Given the description of an element on the screen output the (x, y) to click on. 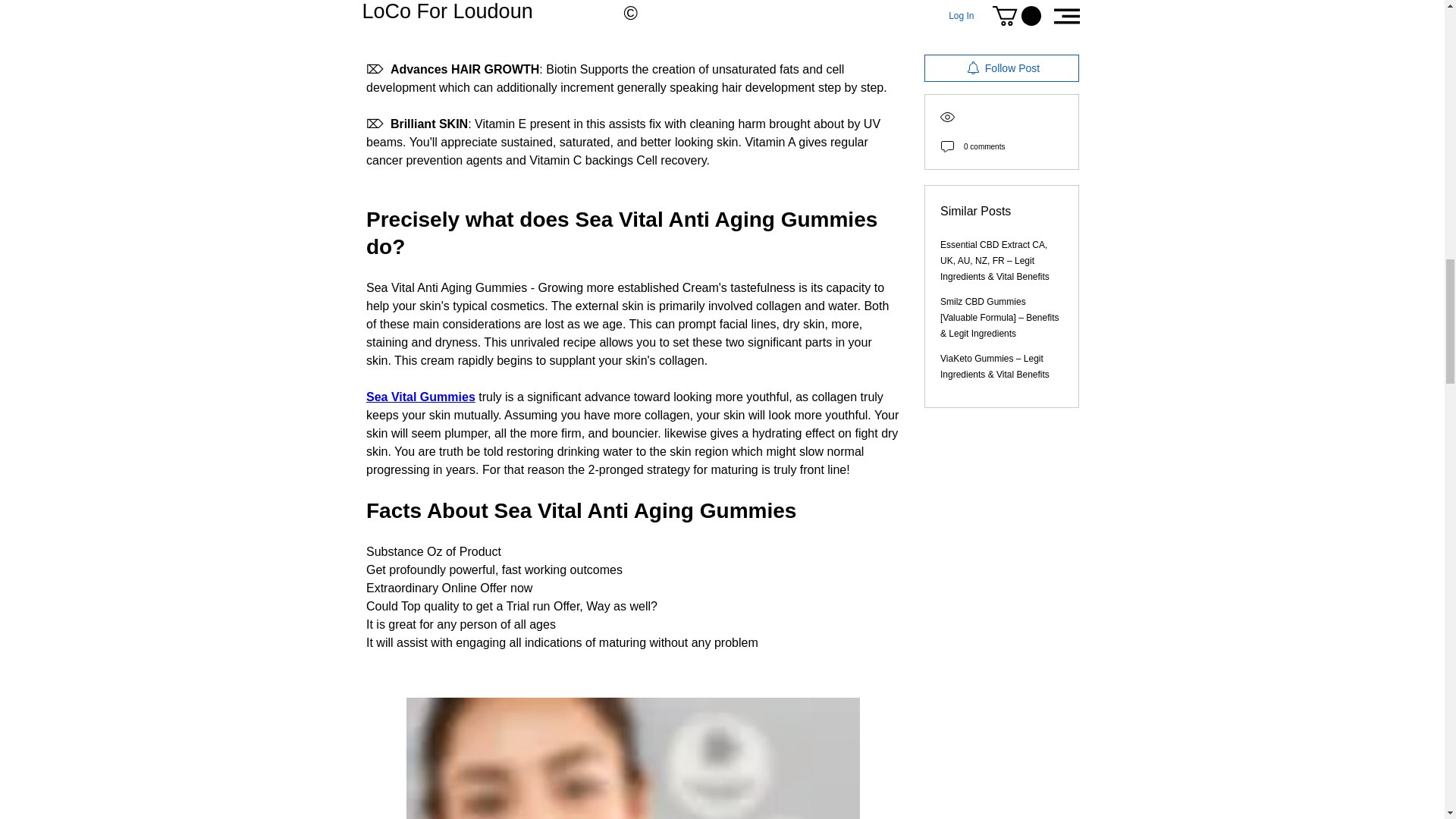
Sea Vital Gummies (421, 396)
Sea Vital Gummies (512, 1)
